Given the description of an element on the screen output the (x, y) to click on. 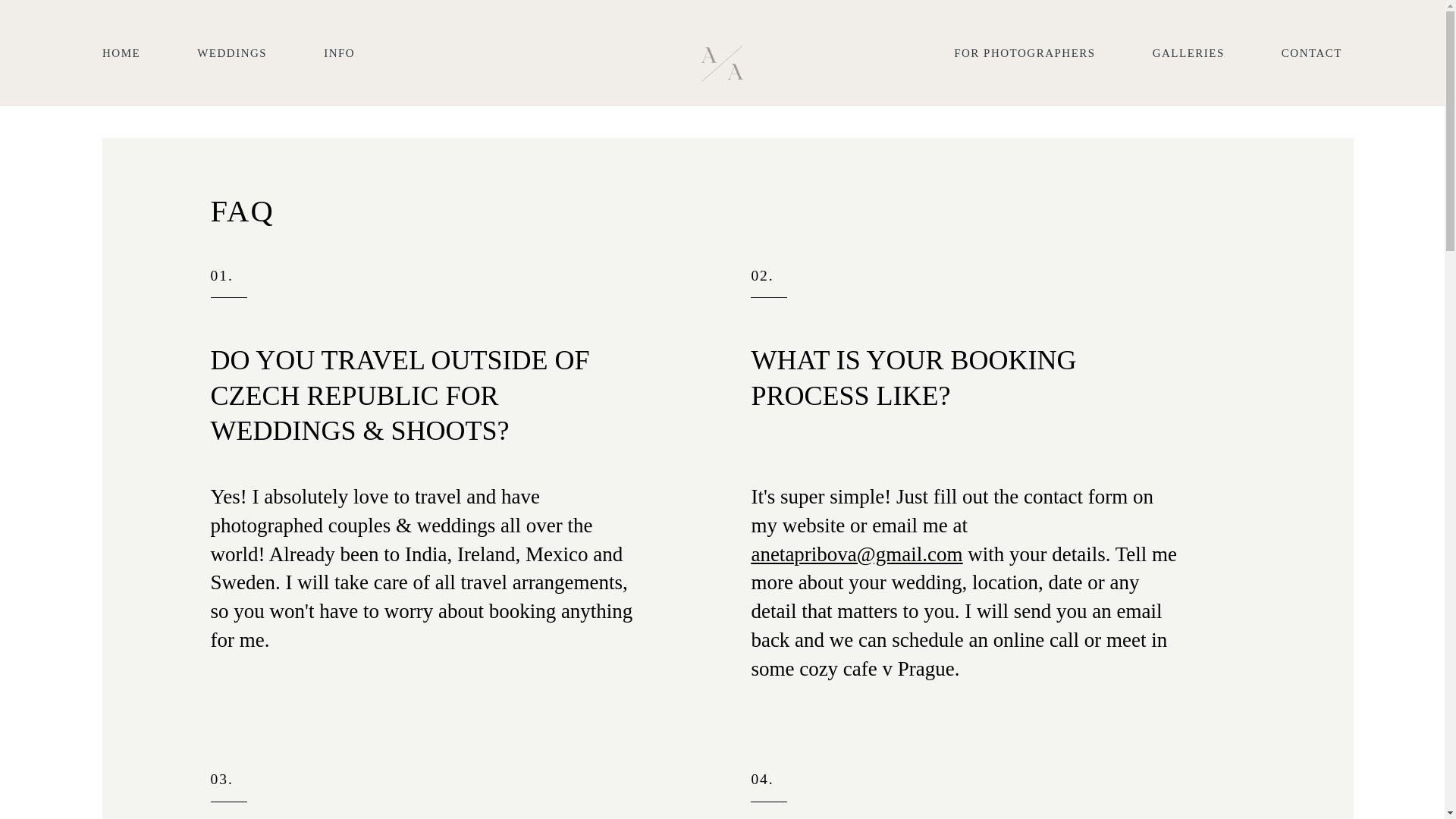
WEDDINGS (231, 52)
CONTACT (1311, 52)
HOME (120, 52)
FOR PHOTOGRAPHERS (1024, 52)
INFO (339, 52)
GALLERIES (1188, 52)
